Given the description of an element on the screen output the (x, y) to click on. 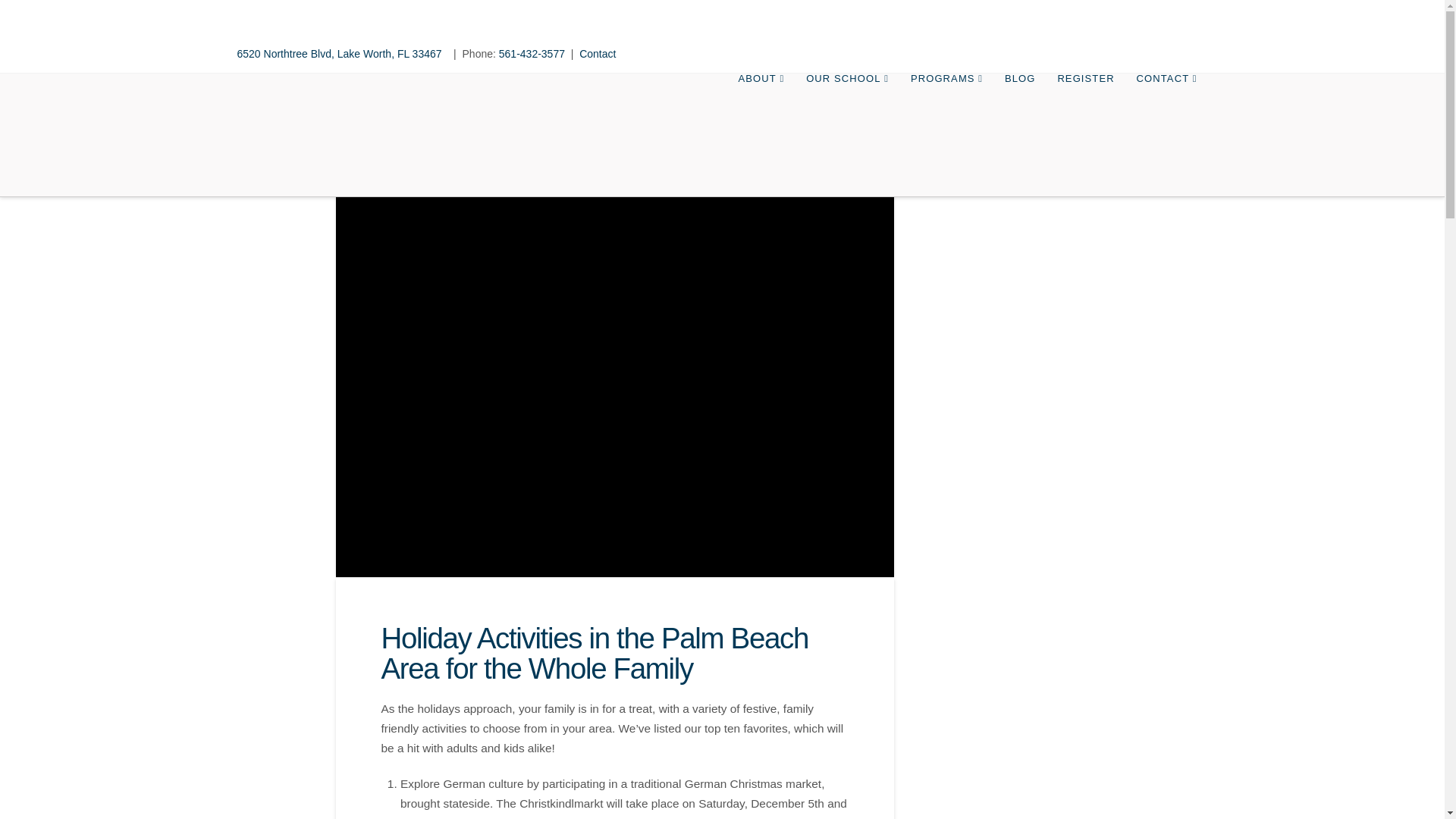
PROGRAMS (945, 115)
CONTACT (1166, 115)
OUR SCHOOL (846, 115)
Contact (597, 53)
561-432-3577 (531, 53)
REGISTER (1084, 115)
6520 Northtree Blvd, Lake Worth, FL 33467 (339, 53)
